Given the description of an element on the screen output the (x, y) to click on. 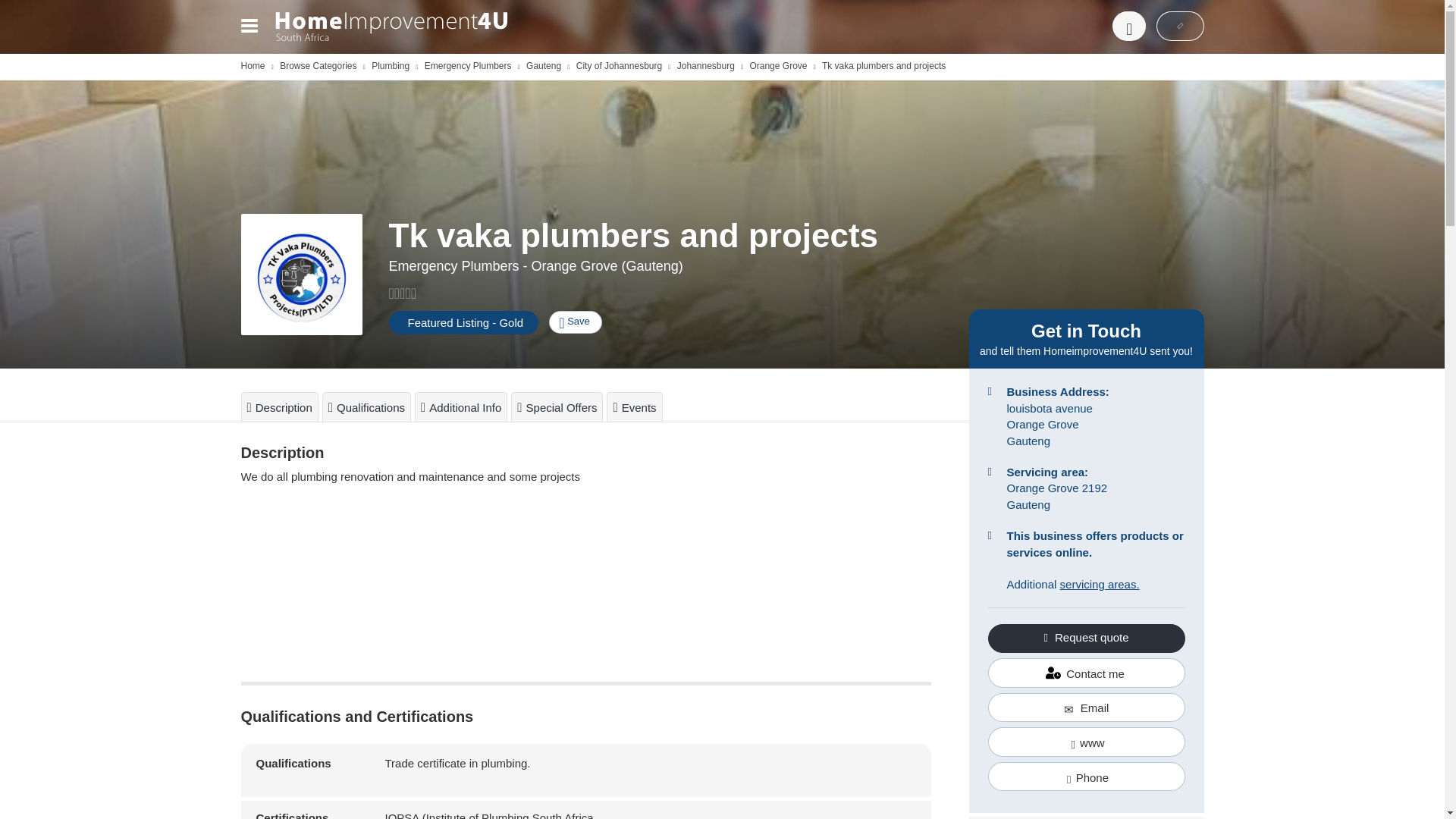
Orange Grove (777, 65)
City of Johannesburg (619, 65)
Johannesburg (706, 65)
Emergency Plumbers (468, 65)
Home (252, 65)
Johannesburg (706, 65)
Request quote (1086, 638)
Contact me (1086, 672)
Email (1086, 707)
Gauteng (542, 65)
